Given the description of an element on the screen output the (x, y) to click on. 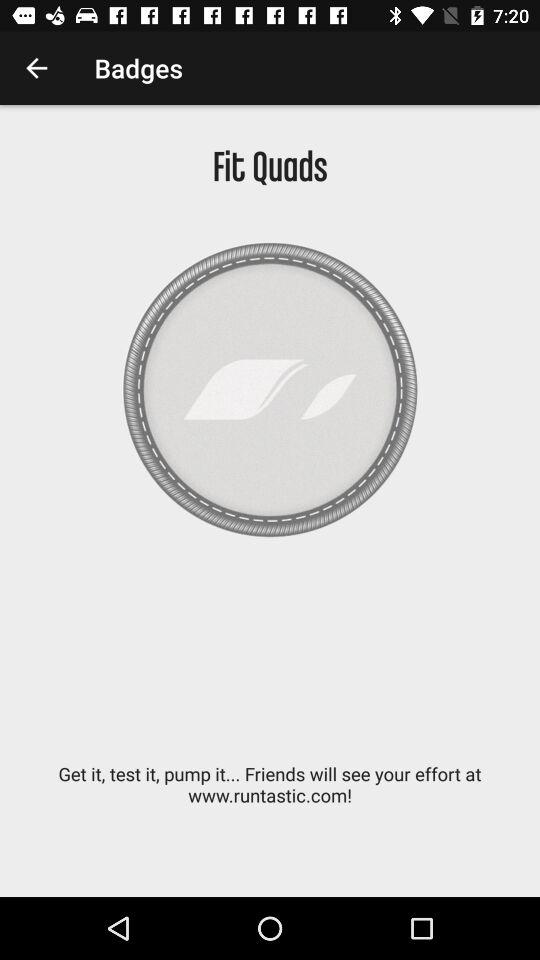
turn on the icon to the left of badges app (36, 68)
